Given the description of an element on the screen output the (x, y) to click on. 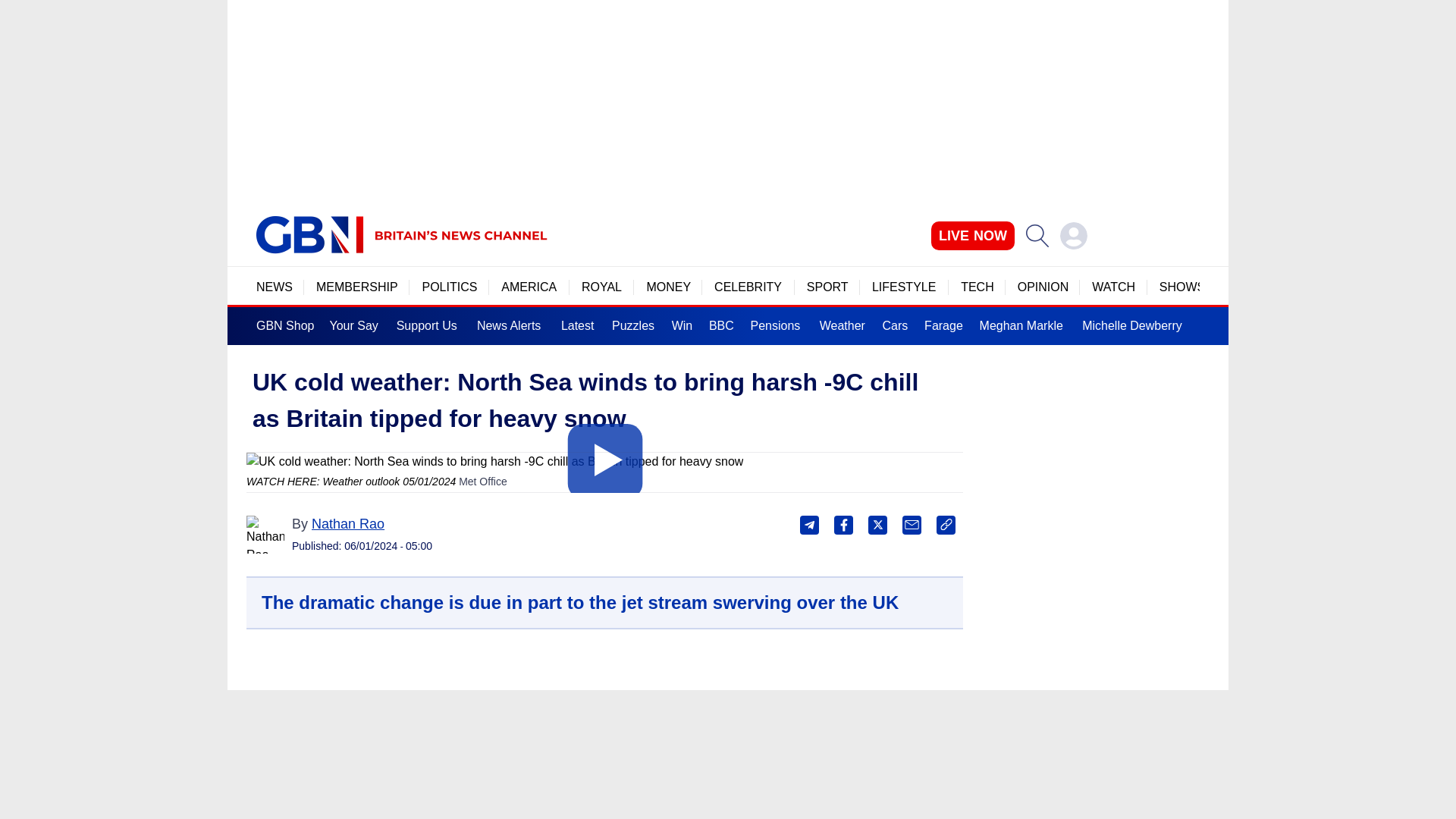
LIVE (972, 235)
GBN Britain's News Channel (310, 235)
Copy this link to clipboard (945, 524)
AMERICA (528, 286)
NEWS (274, 286)
Search (1037, 235)
Nathan Rao (347, 523)
MEMBERSHIP (356, 286)
Nathan Rao (264, 534)
POLITICS (449, 286)
